Given the description of an element on the screen output the (x, y) to click on. 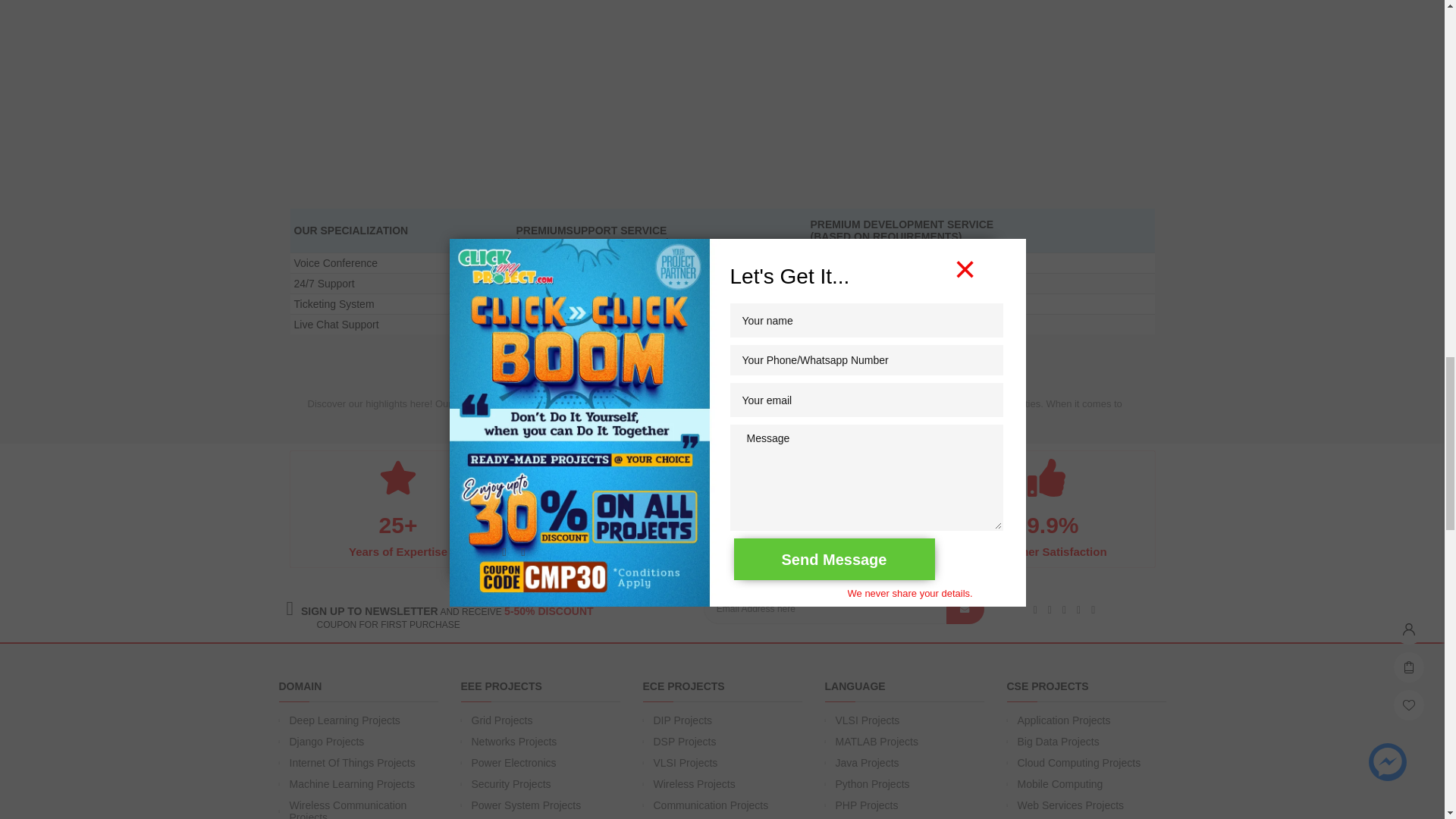
subscribe (965, 608)
